Given the description of an element on the screen output the (x, y) to click on. 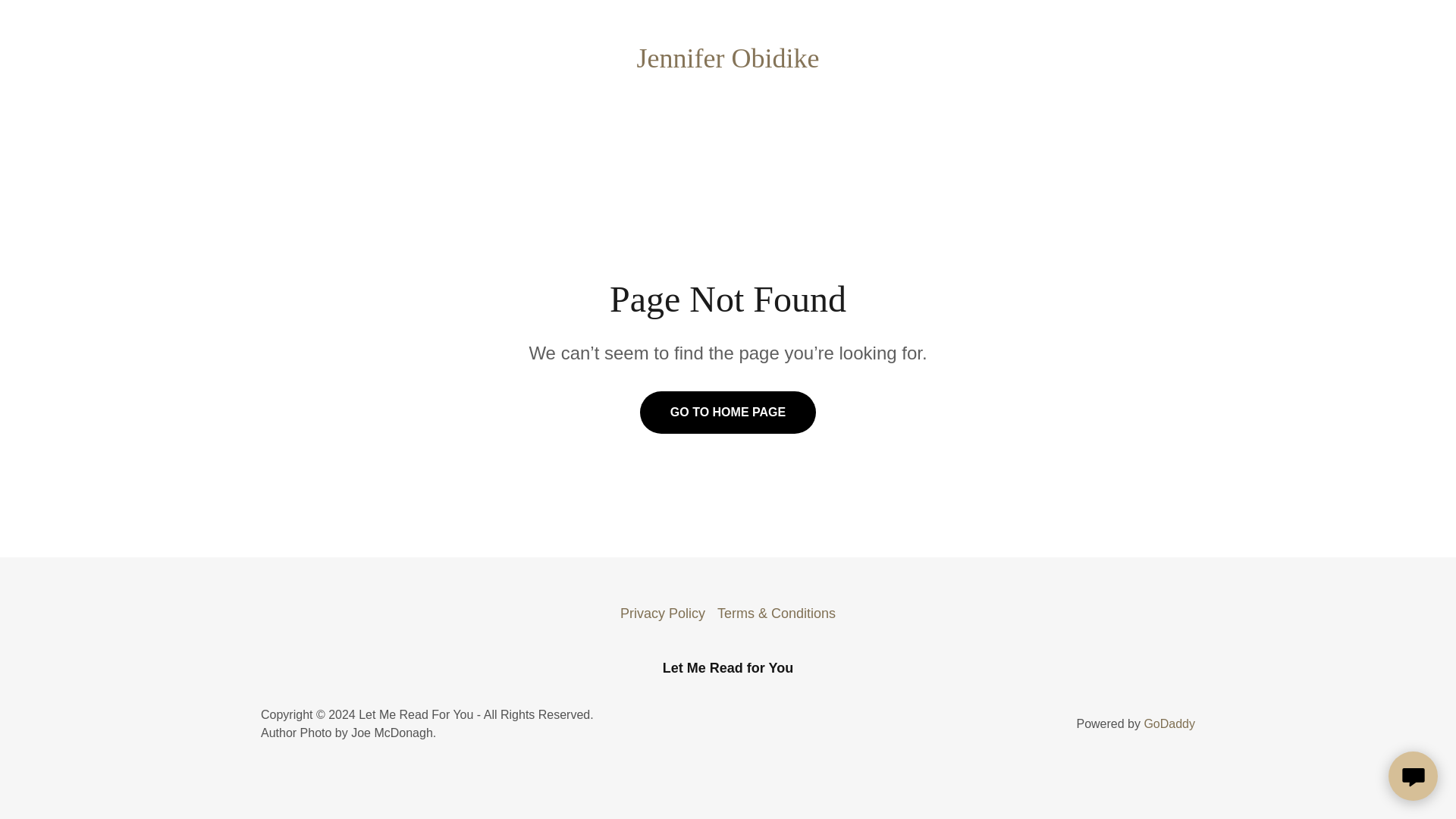
GoDaddy (1168, 723)
GO TO HOME PAGE (727, 412)
Jennifer Obidike (728, 62)
Jennifer Obidike  (728, 62)
Privacy Policy (662, 613)
